Given the description of an element on the screen output the (x, y) to click on. 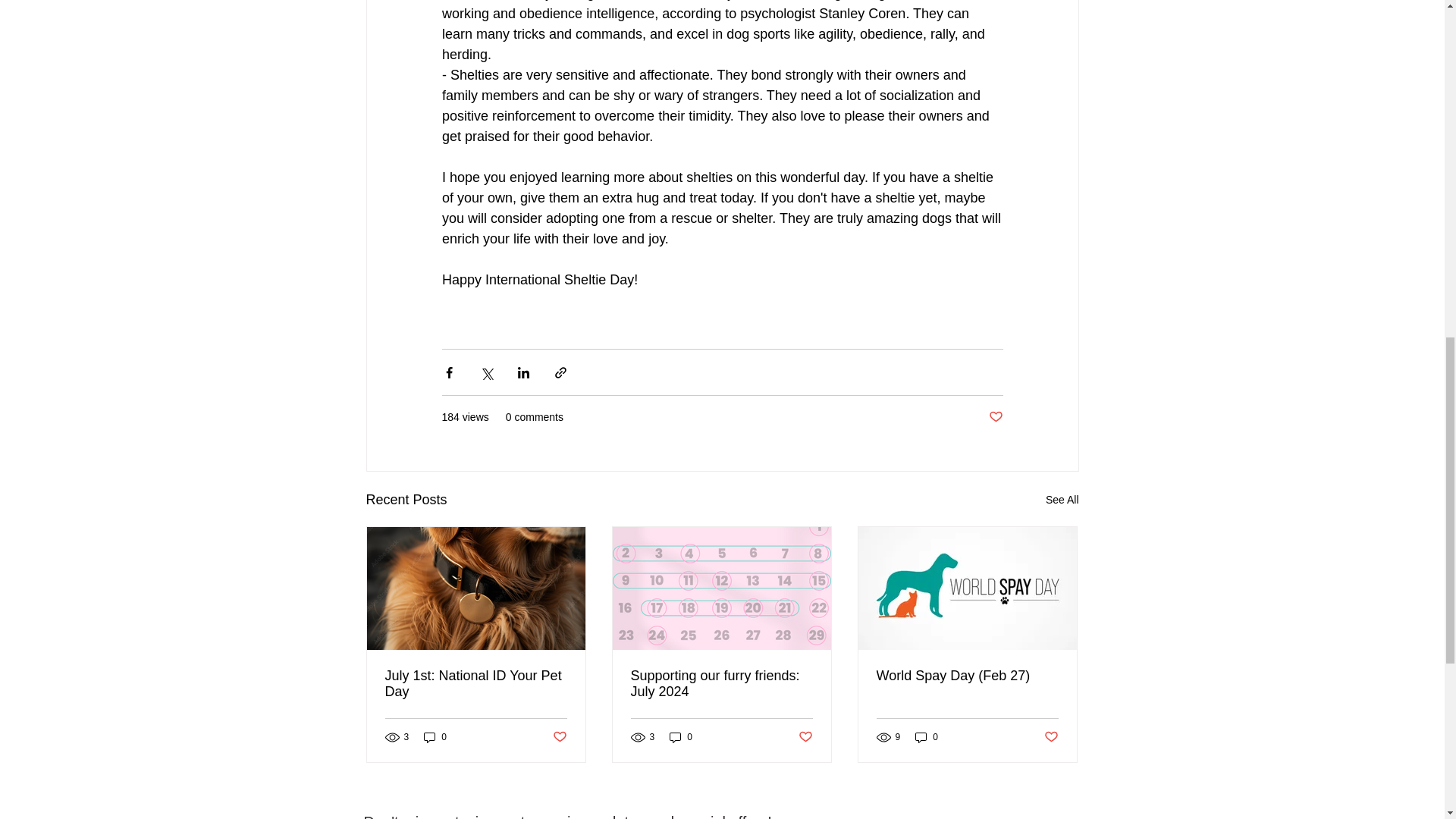
0 (435, 736)
July 1st: National ID Your Pet Day (476, 684)
Post not marked as liked (995, 417)
Post not marked as liked (804, 737)
Supporting our furry friends: July 2024 (721, 684)
0 (681, 736)
Post not marked as liked (558, 737)
See All (1061, 499)
